Given the description of an element on the screen output the (x, y) to click on. 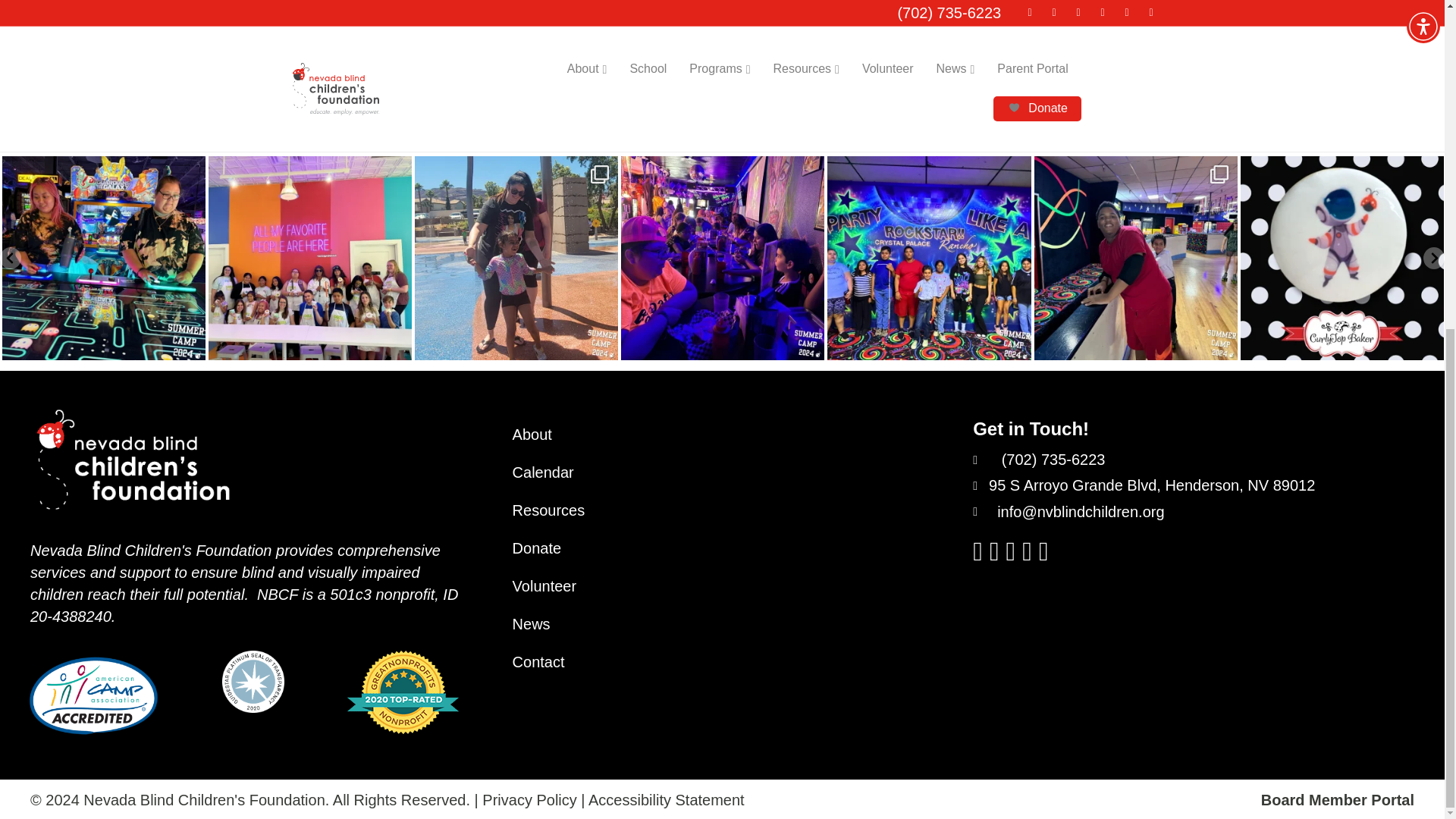
ACA Accredited Logo (92, 695)
Nv Blind Childrens Foundation Logo White (132, 459)
